Given the description of an element on the screen output the (x, y) to click on. 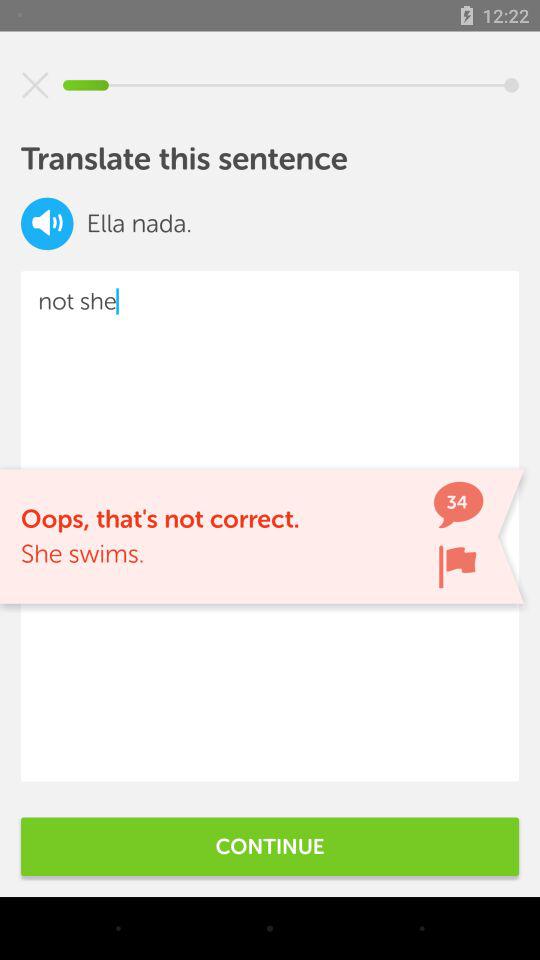
swipe to the continue item (270, 846)
